Given the description of an element on the screen output the (x, y) to click on. 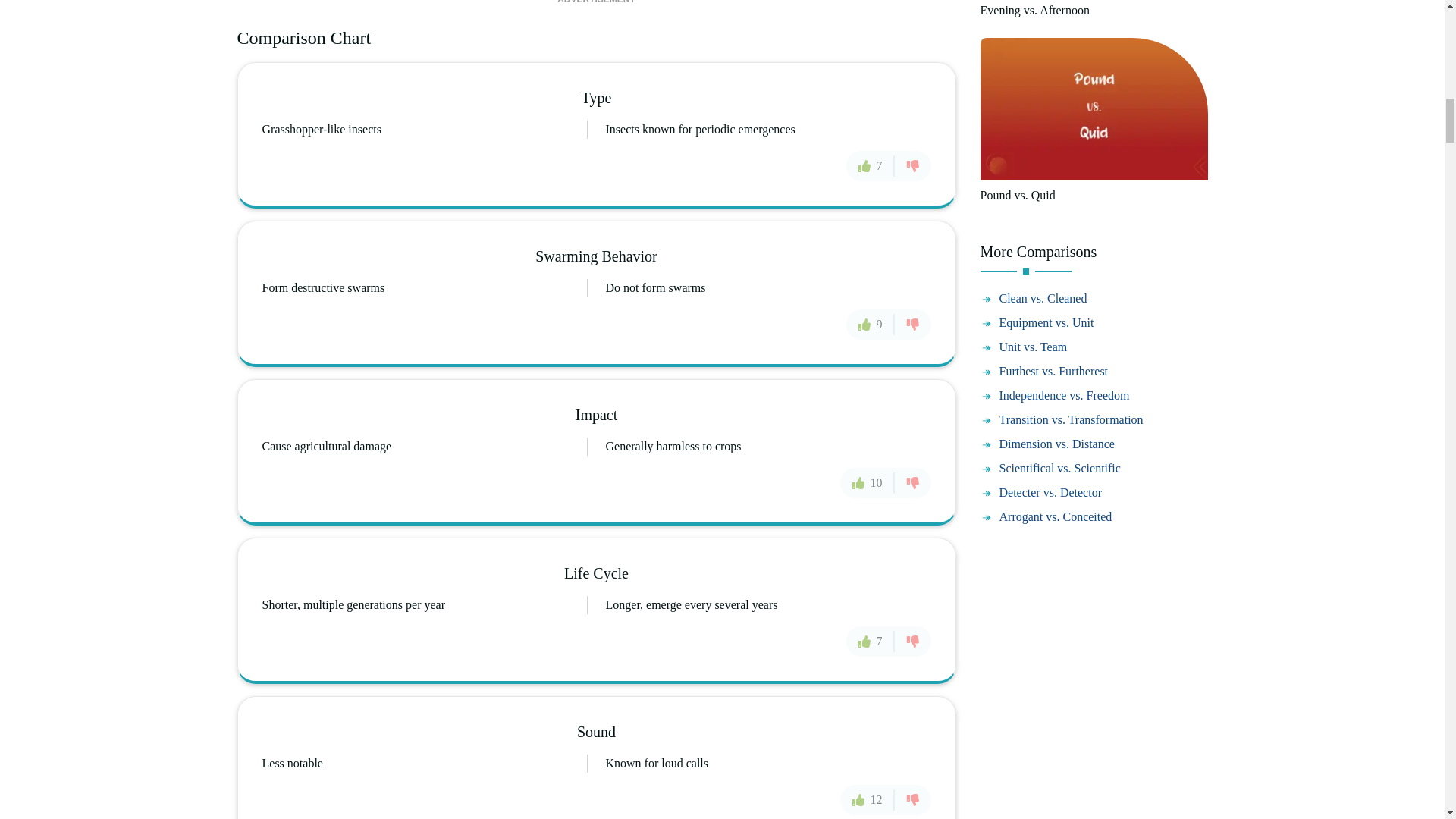
7 (870, 164)
9 (870, 324)
7 (870, 641)
12 (867, 798)
10 (867, 481)
